Given the description of an element on the screen output the (x, y) to click on. 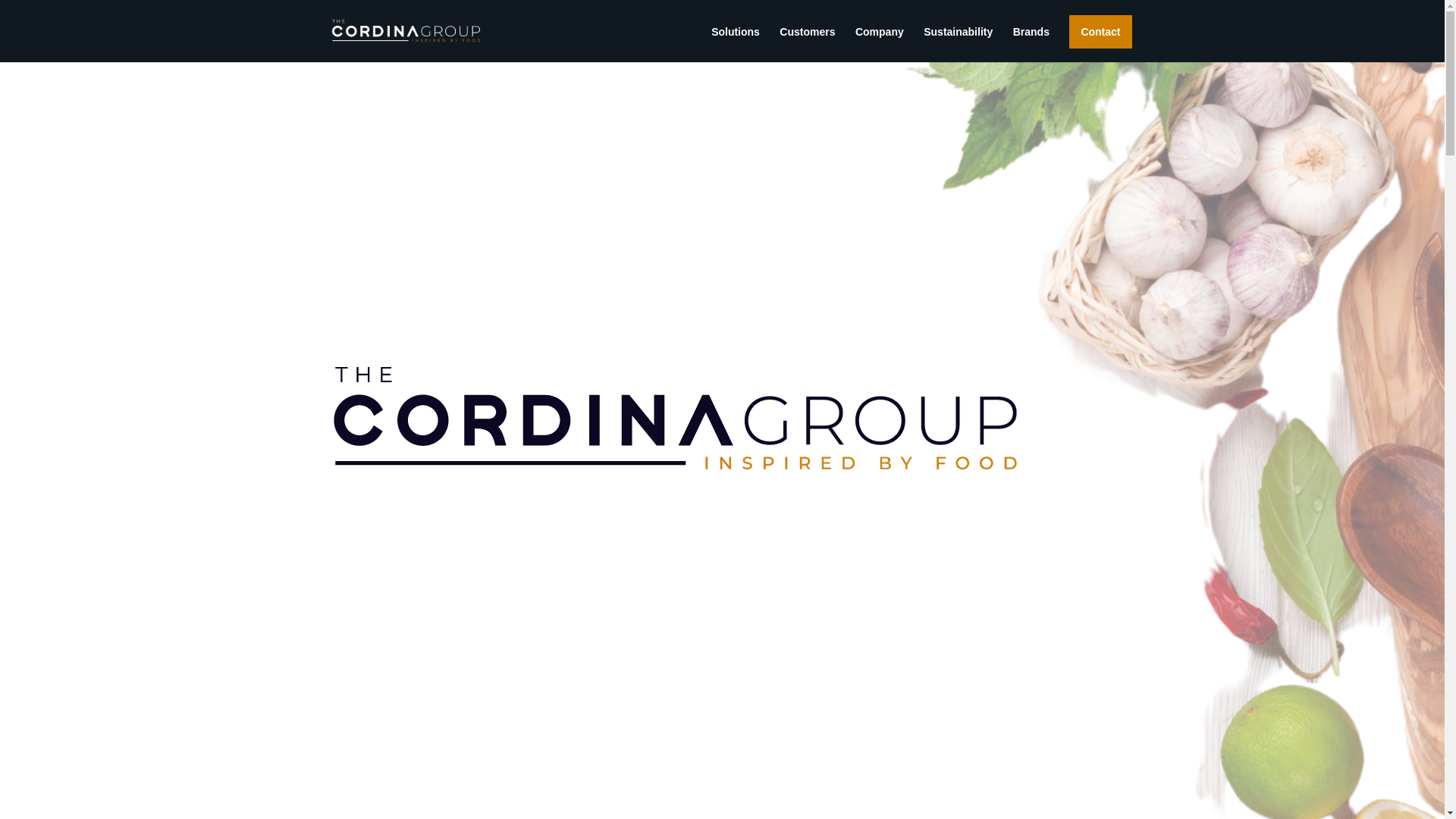
Sustainability Element type: text (957, 44)
logo_CordinaGroup Element type: hover (675, 422)
Solutions Element type: text (735, 44)
Contact Element type: text (1100, 31)
Company Element type: text (879, 44)
Brands Element type: text (1031, 44)
Customers Element type: text (806, 44)
